Given the description of an element on the screen output the (x, y) to click on. 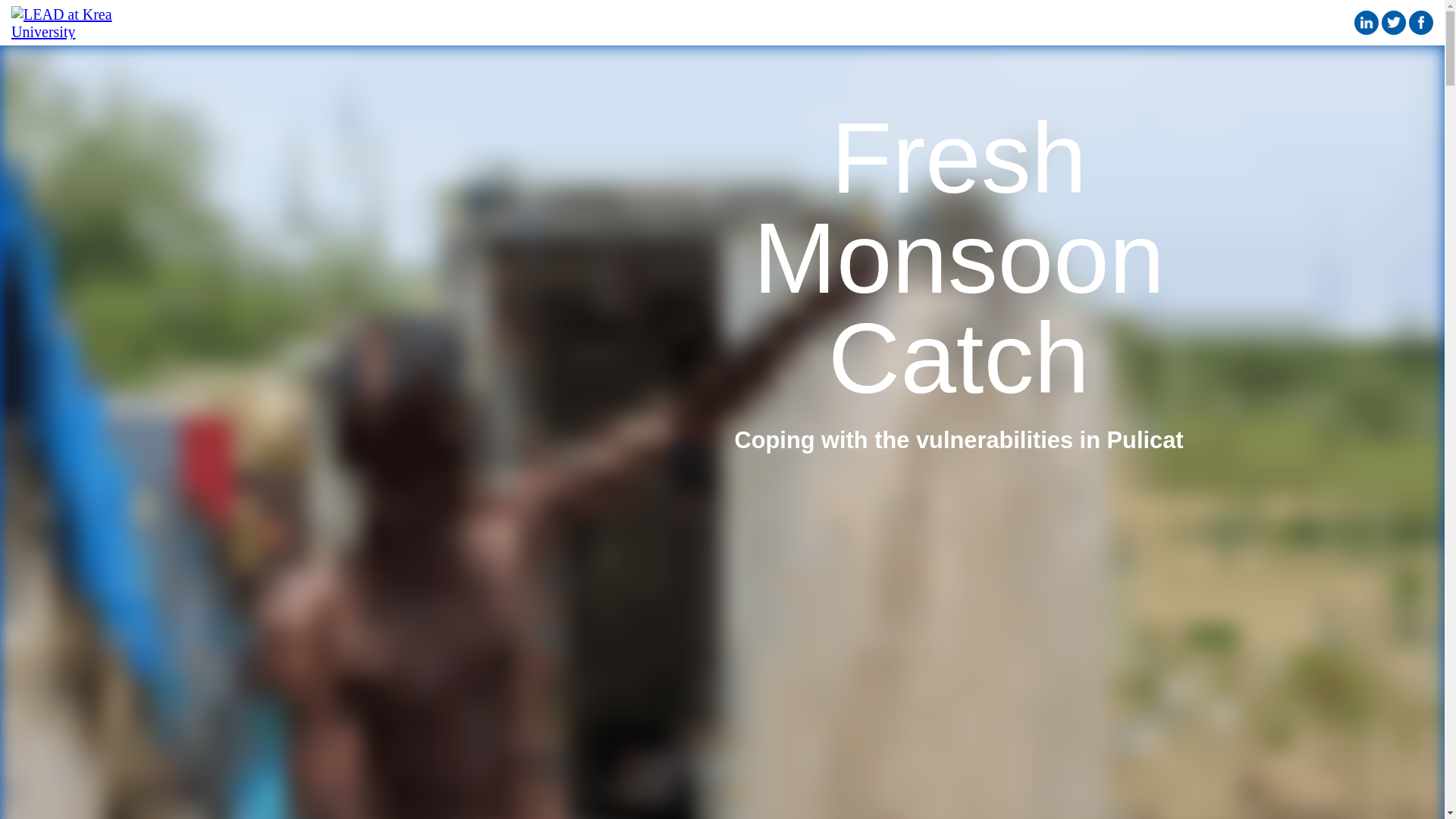
Facebook (1420, 22)
LinkedIn (1366, 22)
Twitter (1393, 22)
